Given the description of an element on the screen output the (x, y) to click on. 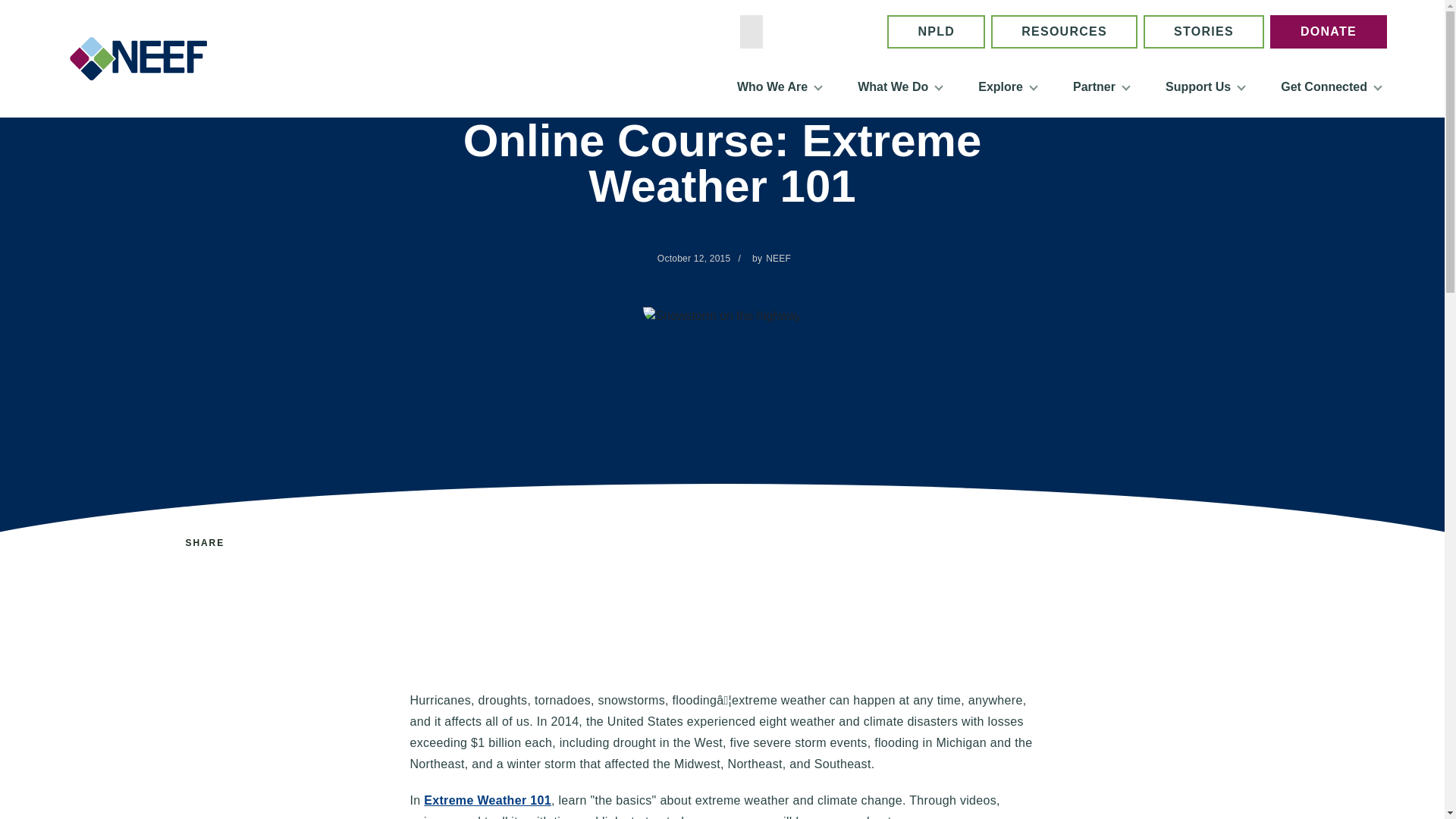
Apply (854, 31)
DONATE (1328, 31)
Apply (854, 31)
Home (143, 58)
STORIES (1202, 31)
RESOURCES (1064, 31)
NPLD (935, 31)
